Given the description of an element on the screen output the (x, y) to click on. 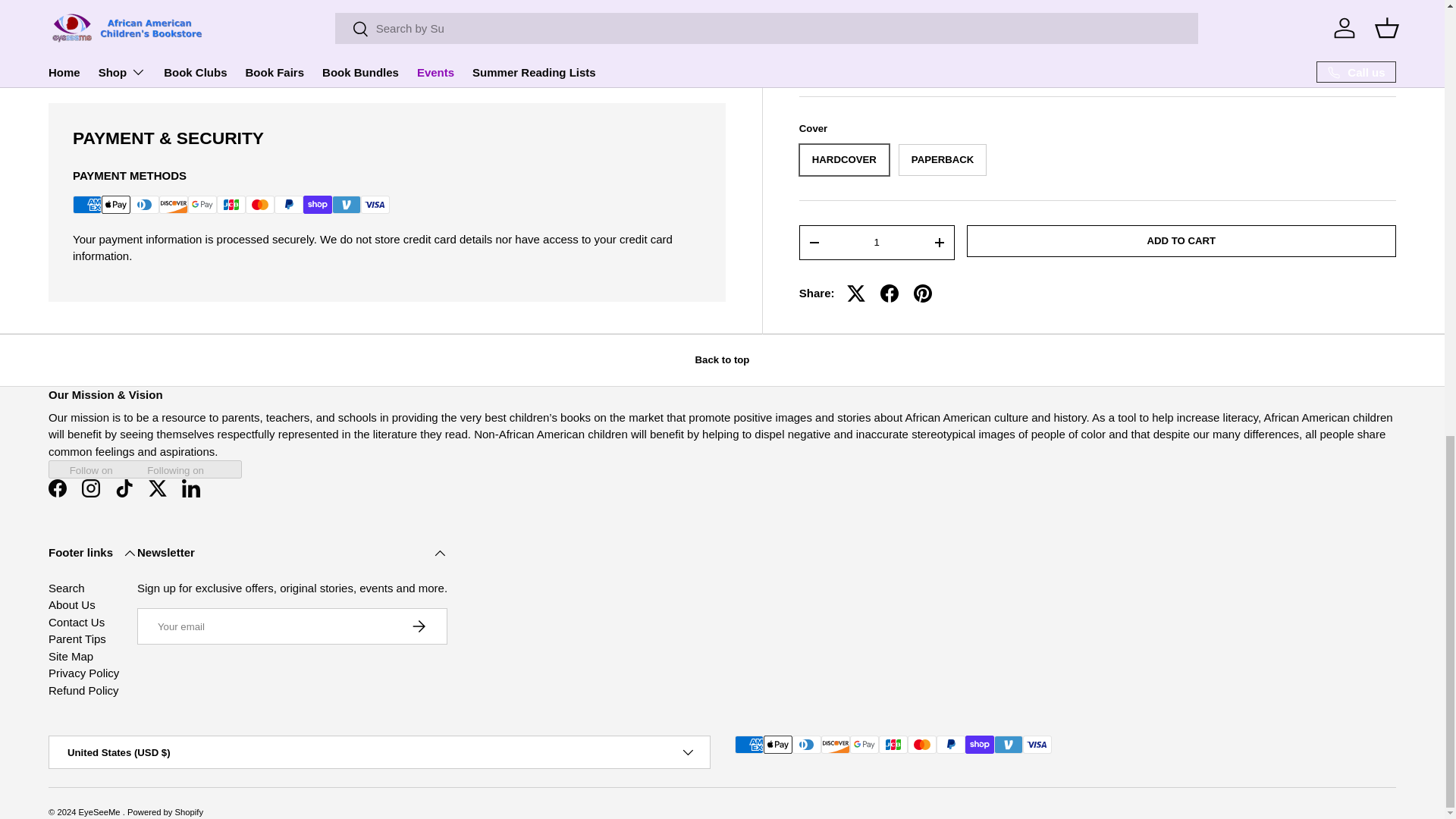
Google Pay (201, 204)
Diners Club (144, 204)
Apple Pay (116, 204)
EyeSeeMe  on Instagram (90, 488)
Discover (172, 204)
EyeSeeMe  on Facebook (57, 488)
American Express (86, 204)
JCB (231, 204)
EyeSeeMe  on TikTok (124, 488)
EyeSeeMe  on Twitter (157, 488)
